Given the description of an element on the screen output the (x, y) to click on. 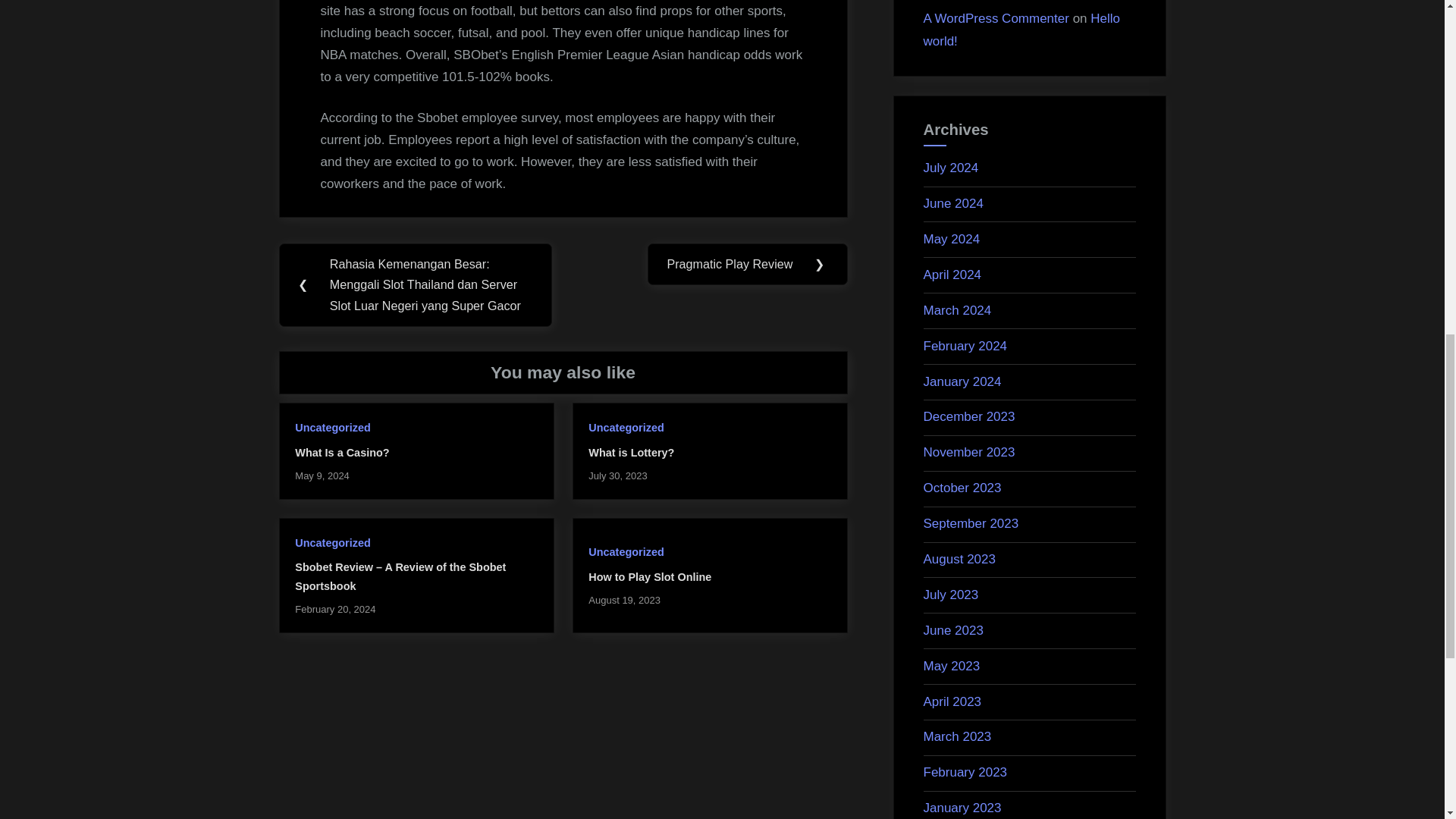
Uncategorized (625, 551)
What is Lottery? (631, 452)
Hello world! (1022, 30)
November 2023 (968, 452)
January 2024 (962, 381)
Uncategorized (625, 427)
Uncategorized (332, 542)
How to Play Slot Online (649, 576)
June 2024 (953, 203)
July 2024 (950, 167)
What Is a Casino? (341, 452)
February 2024 (965, 345)
A WordPress Commenter (995, 18)
October 2023 (962, 487)
March 2024 (957, 310)
